Given the description of an element on the screen output the (x, y) to click on. 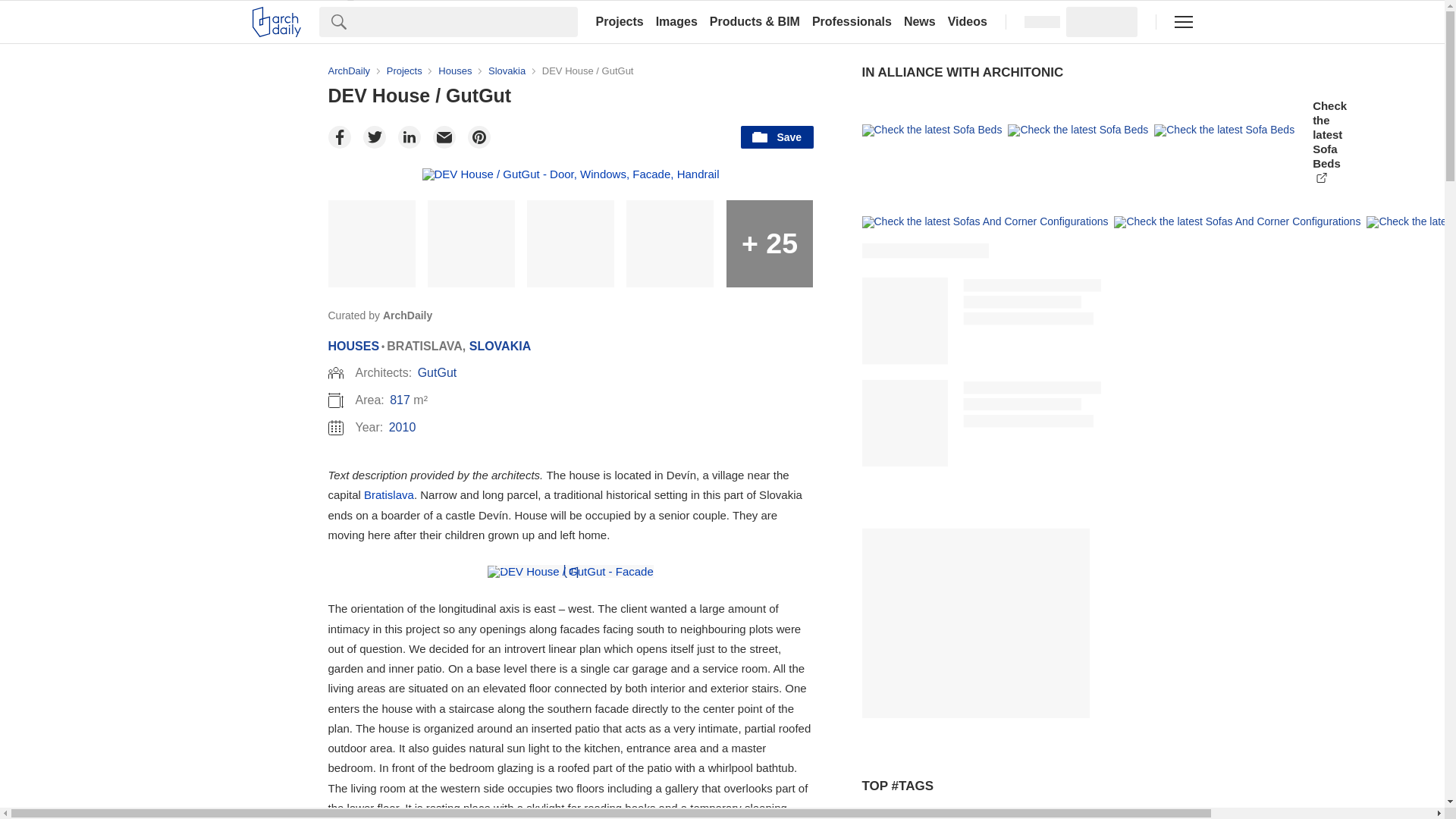
Projects (619, 21)
News (920, 21)
Videos (967, 21)
Images (676, 21)
Professionals (852, 21)
